Given the description of an element on the screen output the (x, y) to click on. 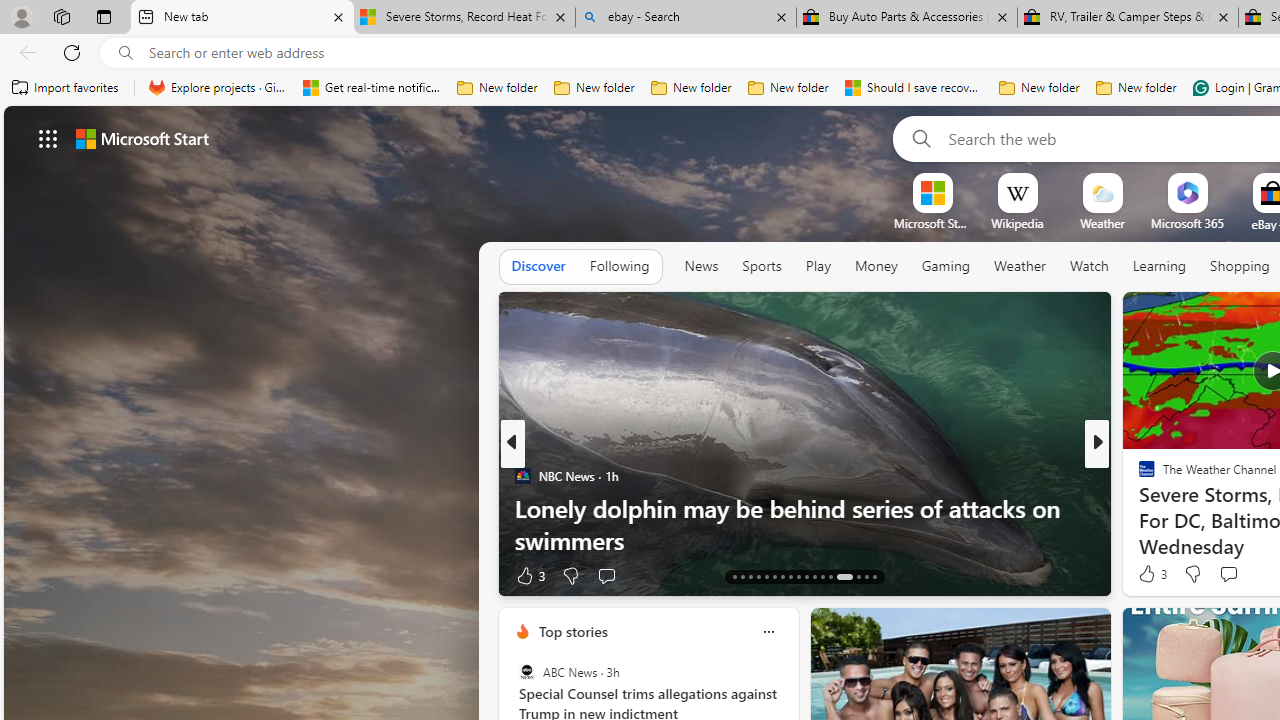
AutomationID: tab-27 (857, 576)
AutomationID: tab-25 (829, 576)
Play (818, 267)
99 Like (1149, 574)
AutomationID: tab-23 (814, 576)
Should I save recovered Word documents? - Microsoft Support (913, 88)
Learning (1159, 265)
AutomationID: tab-15 (750, 576)
App launcher (47, 138)
